Given the description of an element on the screen output the (x, y) to click on. 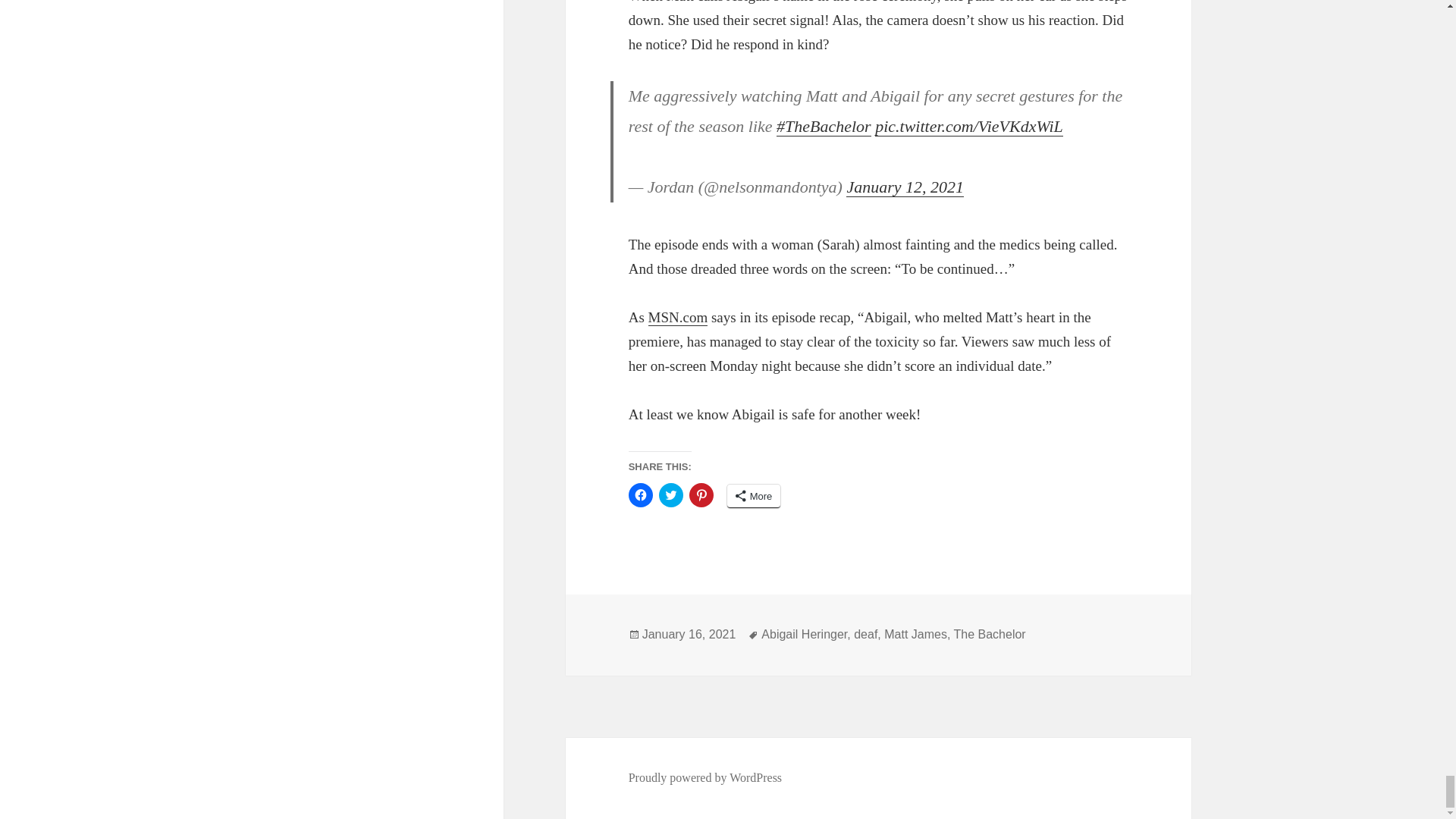
Click to share on Twitter (670, 494)
Click to share on Facebook (640, 494)
